Given the description of an element on the screen output the (x, y) to click on. 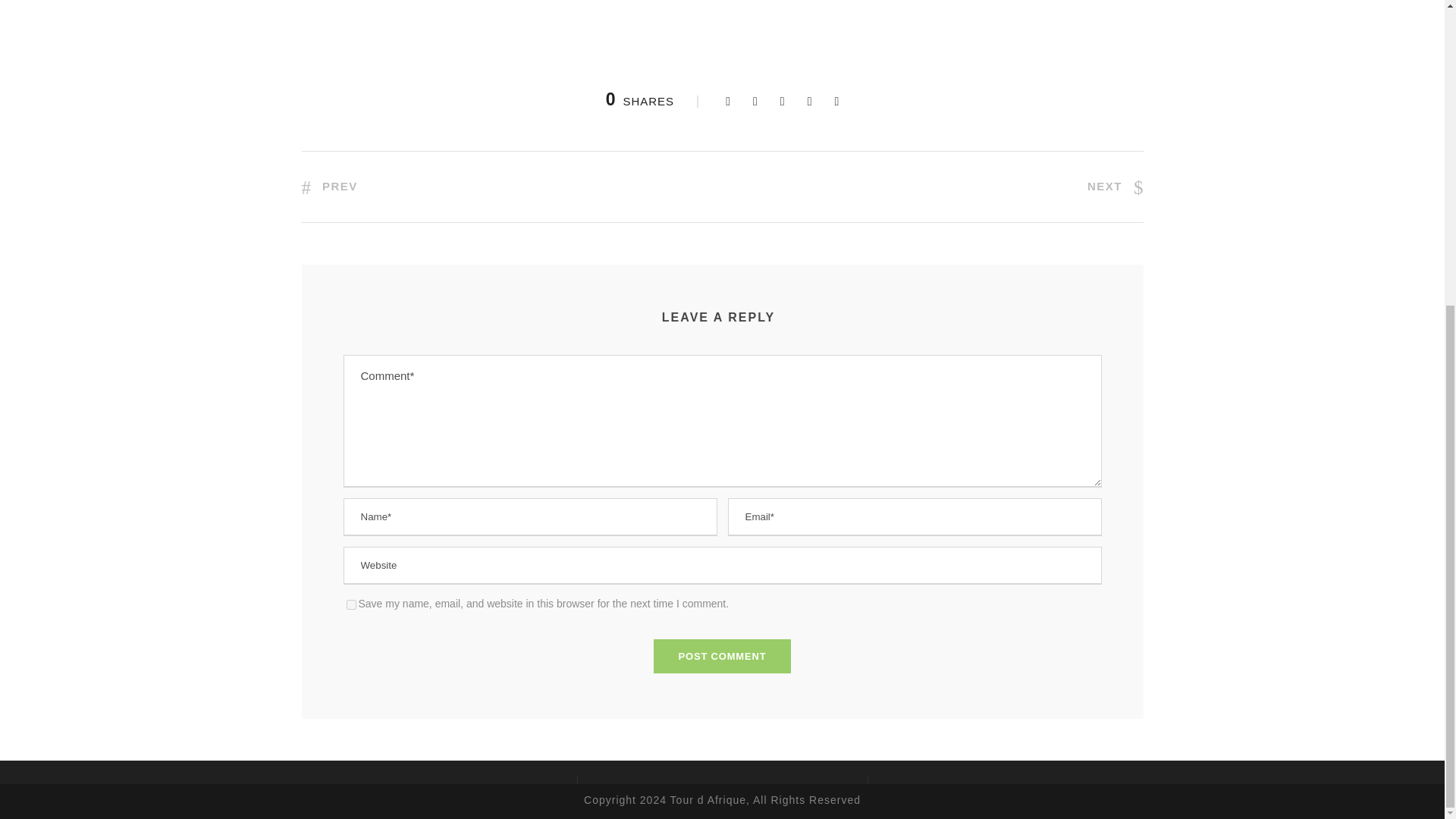
Post Comment (722, 655)
yes (350, 603)
